Given the description of an element on the screen output the (x, y) to click on. 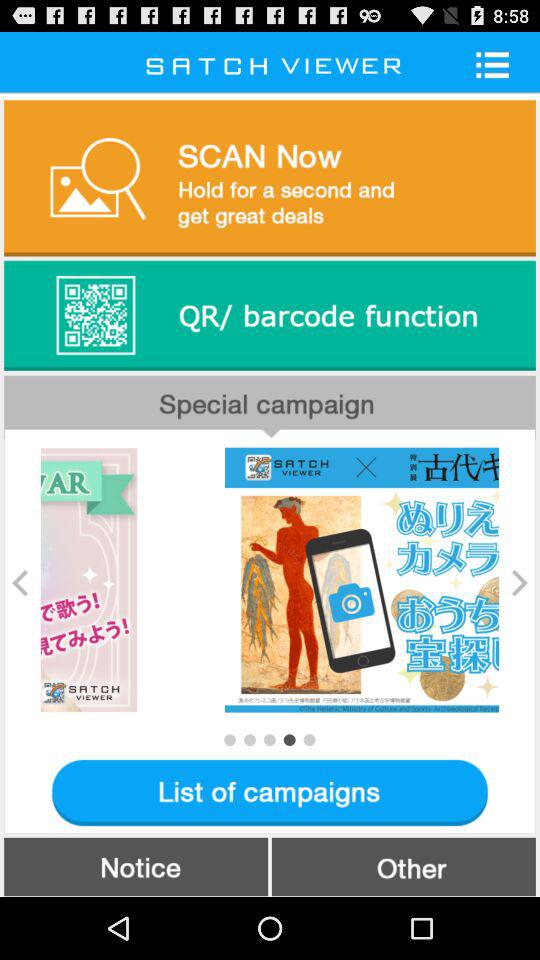
choose item at the bottom right corner (403, 866)
